Given the description of an element on the screen output the (x, y) to click on. 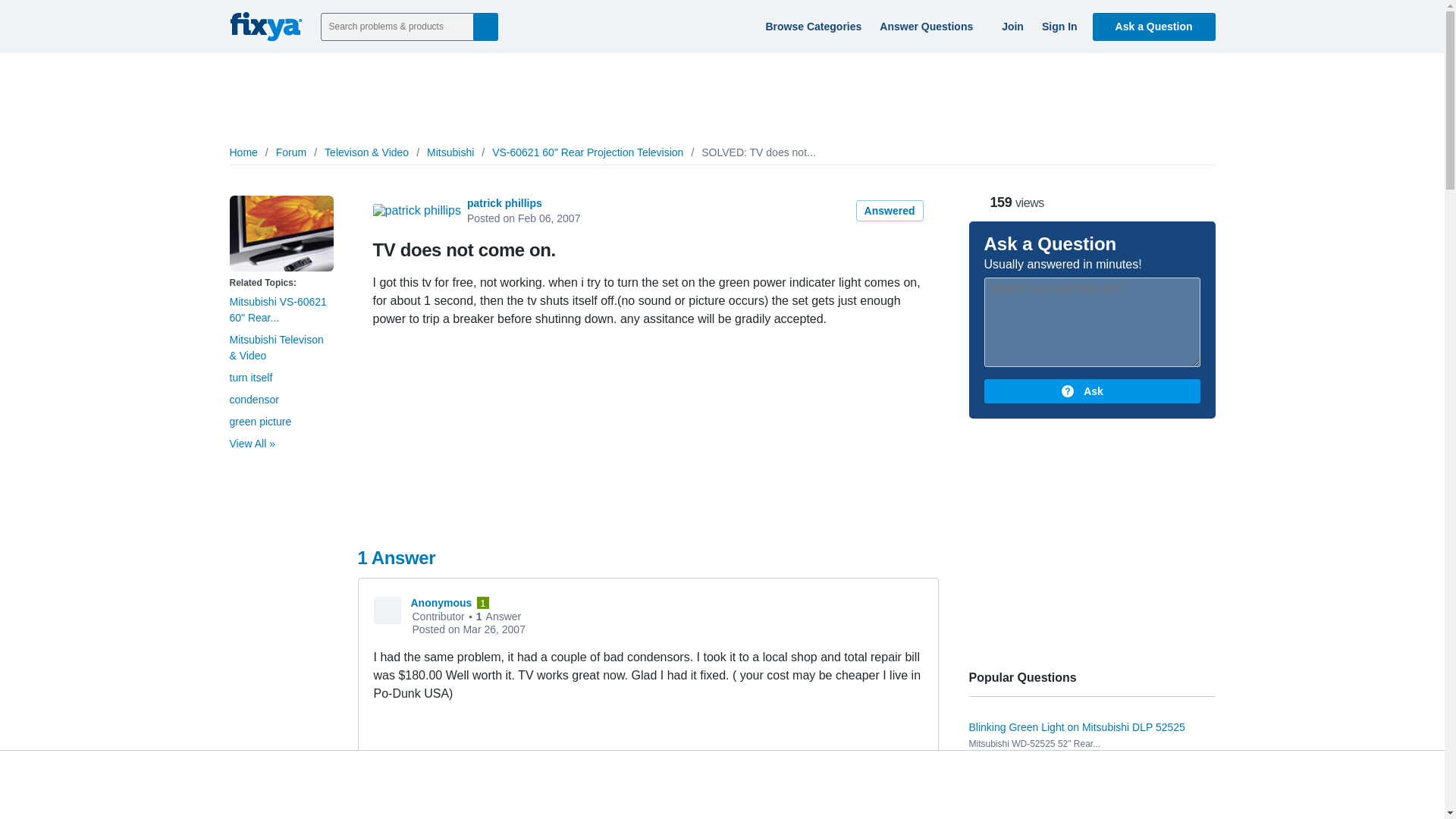
Search Fixya (485, 26)
Search Fixya (485, 26)
Home (242, 152)
turn itself (250, 377)
condensor (253, 399)
VS-60621 60" Rear Projection Television (587, 152)
green picture (259, 421)
Mitsubishi VS-60621 60" Rear... (277, 309)
Sign In (1056, 26)
Ask a Question (1154, 26)
Ask (1091, 391)
Mitsubishi (450, 152)
Search Fixya (485, 26)
Browse Categories (810, 26)
Forum (290, 152)
